Given the description of an element on the screen output the (x, y) to click on. 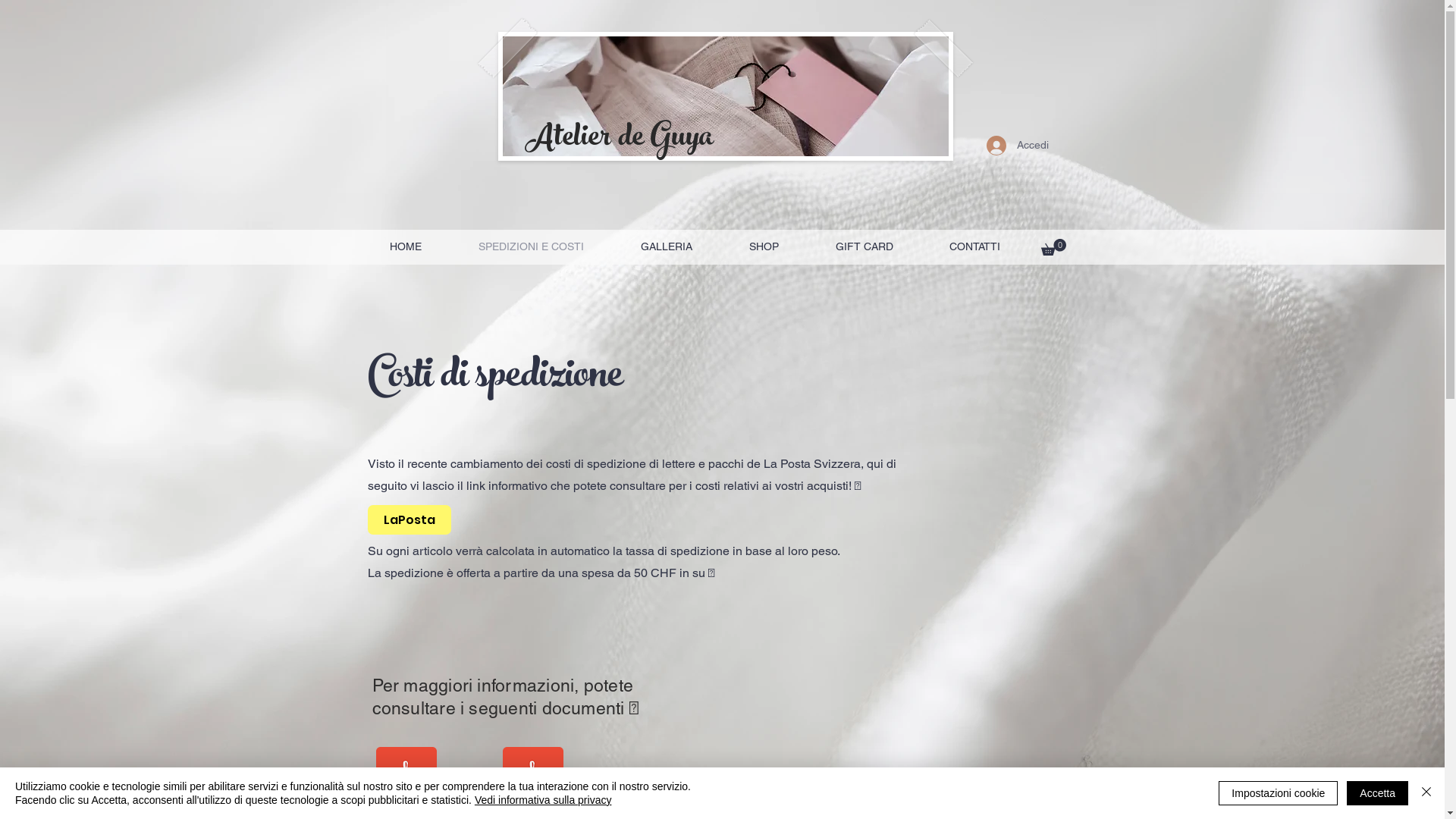
CONTATTI Element type: text (973, 246)
GIFT CARD Element type: text (863, 246)
Impostazioni cookie Element type: text (1277, 793)
Adeguamenti delle prestazioni CP 2022.pdf Element type: hover (405, 778)
HOME Element type: text (404, 246)
Vedi informativa sulla privacy Element type: text (542, 799)
Accedi Element type: text (1016, 145)
LaPosta Element type: text (408, 519)
0 Element type: text (1052, 246)
SPEDIZIONI E COSTI Element type: text (531, 246)
condizioni generali.pdf Element type: hover (532, 778)
SHOP Element type: text (763, 246)
Accetta Element type: text (1377, 793)
GALLERIA Element type: text (666, 246)
